Given the description of an element on the screen output the (x, y) to click on. 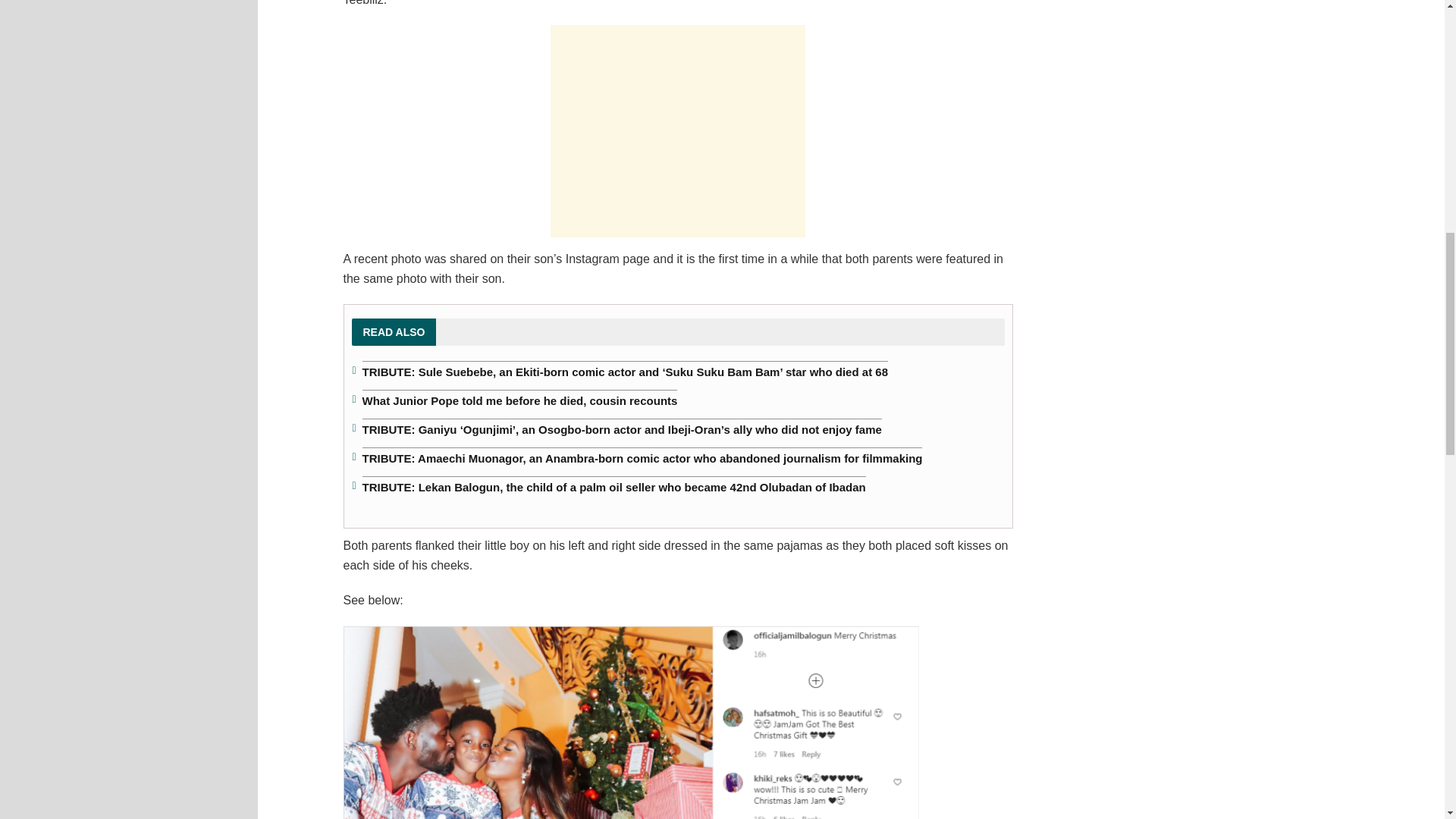
Advertisement (677, 131)
